Given the description of an element on the screen output the (x, y) to click on. 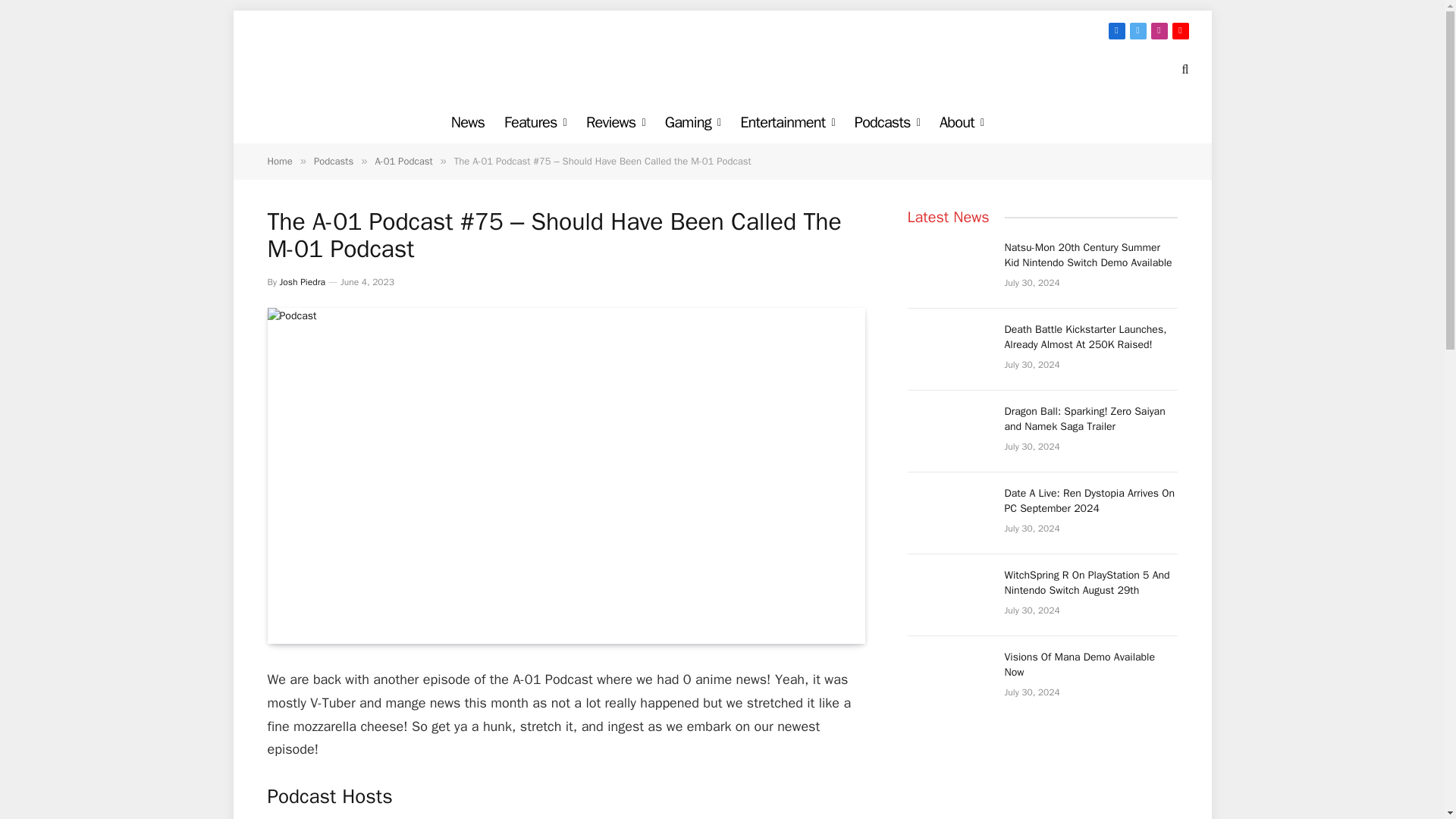
Reviews (615, 122)
Instagram (1159, 30)
YouTube (1180, 30)
Features (535, 122)
Facebook (1116, 30)
Posts by Josh Piedra (301, 282)
The Outerhaven (722, 68)
News (468, 122)
